Given the description of an element on the screen output the (x, y) to click on. 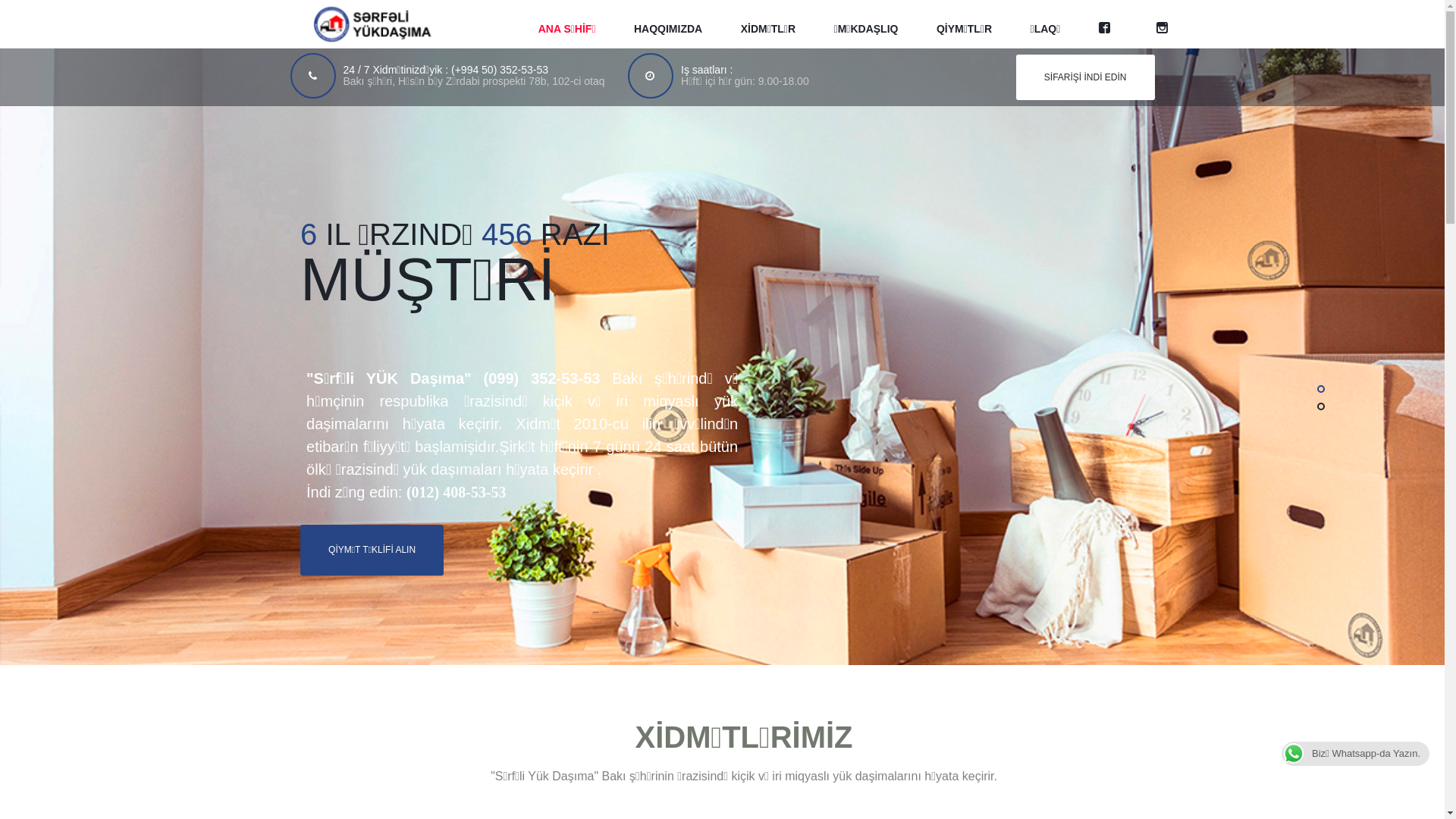
  Element type: text (1166, 24)
1 Element type: text (1320, 388)
  Element type: text (1108, 24)
HAQQIMIZDA Element type: text (667, 24)
2 Element type: text (1320, 406)
